Given the description of an element on the screen output the (x, y) to click on. 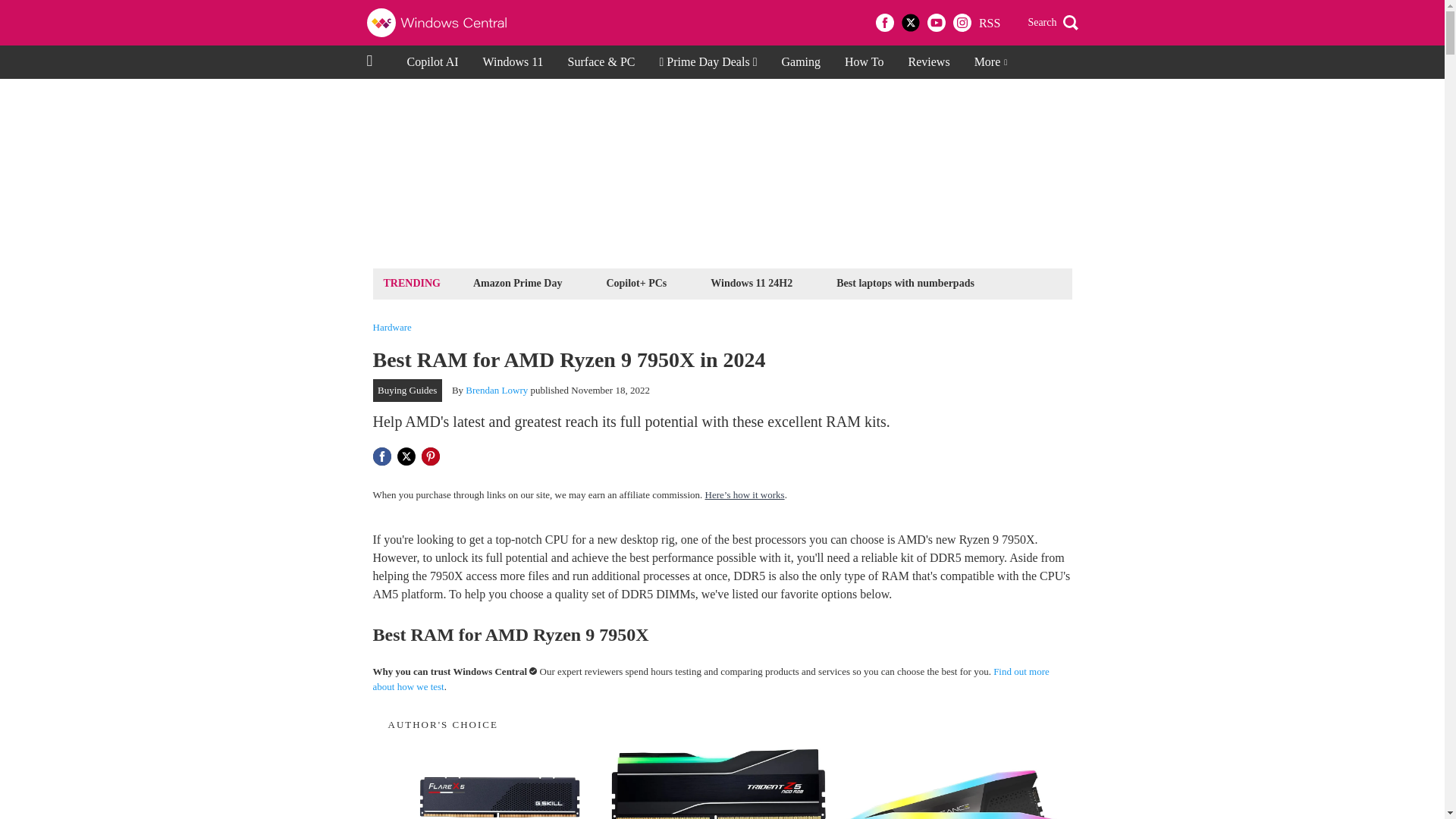
Hardware (392, 327)
Gaming (800, 61)
Windows 11 (513, 61)
Brendan Lowry (496, 389)
Windows 11 24H2 (750, 282)
Amazon Prime Day (517, 282)
RSS (989, 22)
Copilot AI (432, 61)
Buying Guides (407, 390)
How To (863, 61)
Find out more about how we test (710, 678)
Best laptops with numberpads (905, 282)
Reviews (929, 61)
